Given the description of an element on the screen output the (x, y) to click on. 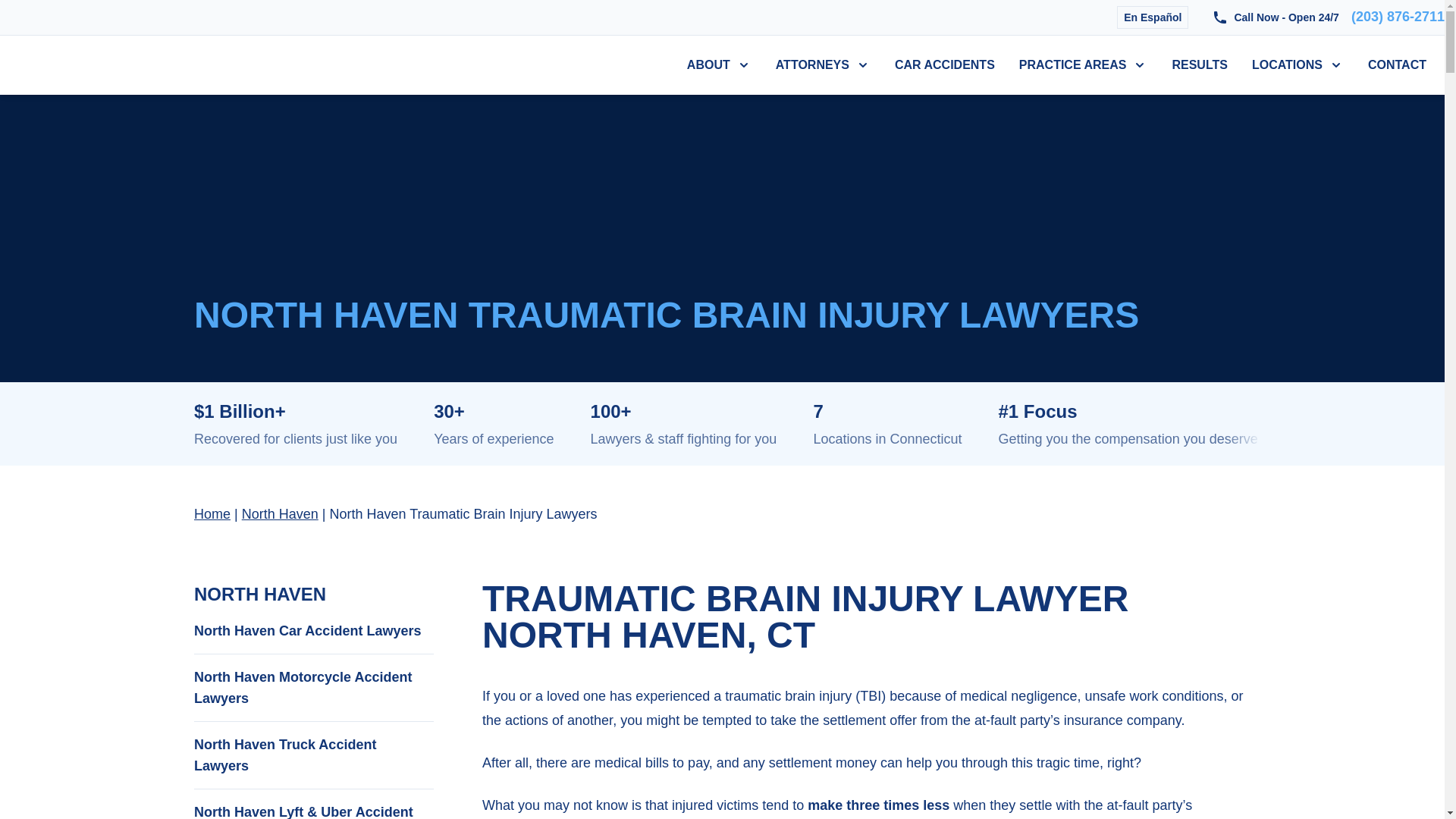
Carter Mario Law (84, 65)
ABOUT (708, 65)
ATTORNEYS (812, 65)
